Given the description of an element on the screen output the (x, y) to click on. 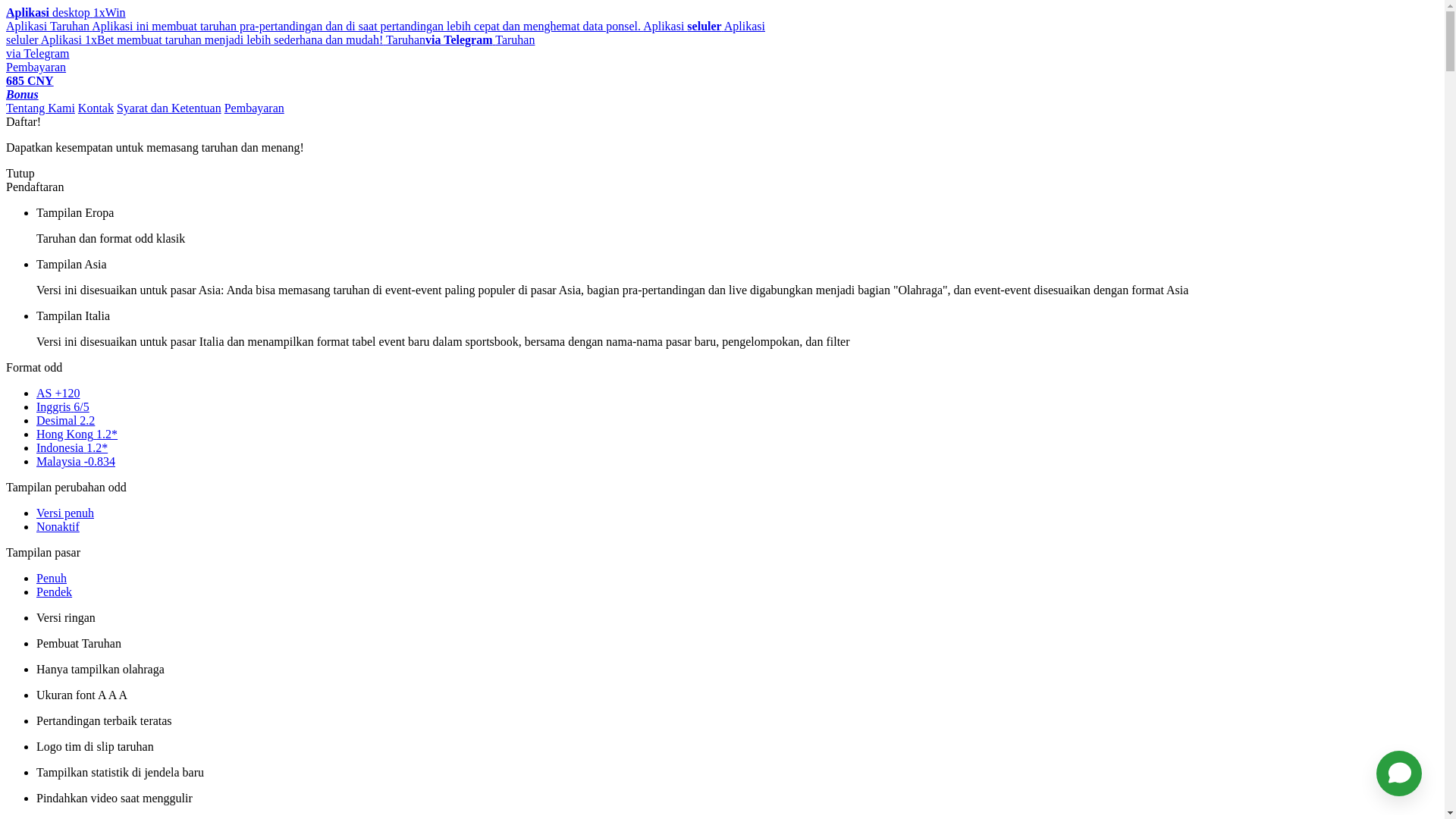
Versi penuh Element type: text (65, 512)
Inggris 6/5 Element type: text (62, 406)
Nonaktif Element type: text (57, 526)
Penuh Element type: text (51, 577)
Kontak Element type: text (95, 107)
Pembayaran Element type: text (35, 66)
685 CNY
Bonus Element type: text (29, 87)
Pendaftaran Element type: text (34, 186)
Indonesia 1.2* Element type: text (71, 447)
Pembayaran Element type: text (254, 107)
AS +120 Element type: text (57, 392)
Desimal 2.2 Element type: text (65, 420)
Tentang Kami Element type: text (40, 107)
Malaysia -0.834 Element type: text (75, 461)
Hong Kong 1.2* Element type: text (76, 433)
Taruhanvia Telegram Taruhan
via Telegram Element type: text (270, 46)
Syarat dan Ketentuan Element type: text (168, 107)
Pendek Element type: text (54, 591)
